Given the description of an element on the screen output the (x, y) to click on. 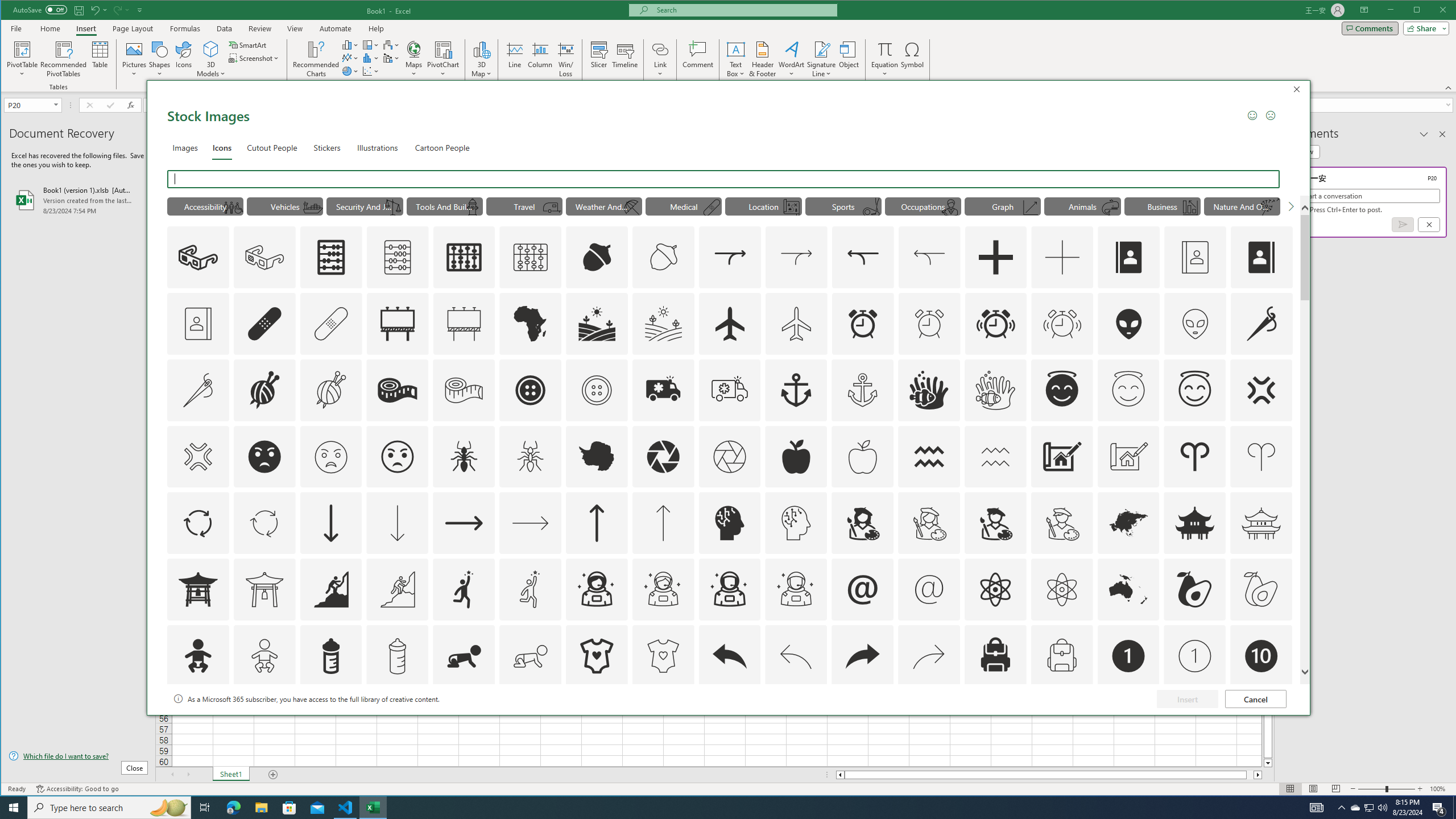
AutomationID: Icons_Backpack_M (1061, 655)
AutomationID: Icons_AlterationsTailoring (1261, 323)
AutomationID: Icons_Badge7_M (995, 721)
AutomationID: Icons_Badge3 (397, 721)
Line (514, 59)
AutomationID: Icons_AddressBook_LTR_M (1194, 256)
AutomationID: Icons_JudgeMale_M (950, 207)
AutomationID: Icons_AlienFace (1128, 323)
Excel - 1 running window (373, 807)
